Given the description of an element on the screen output the (x, y) to click on. 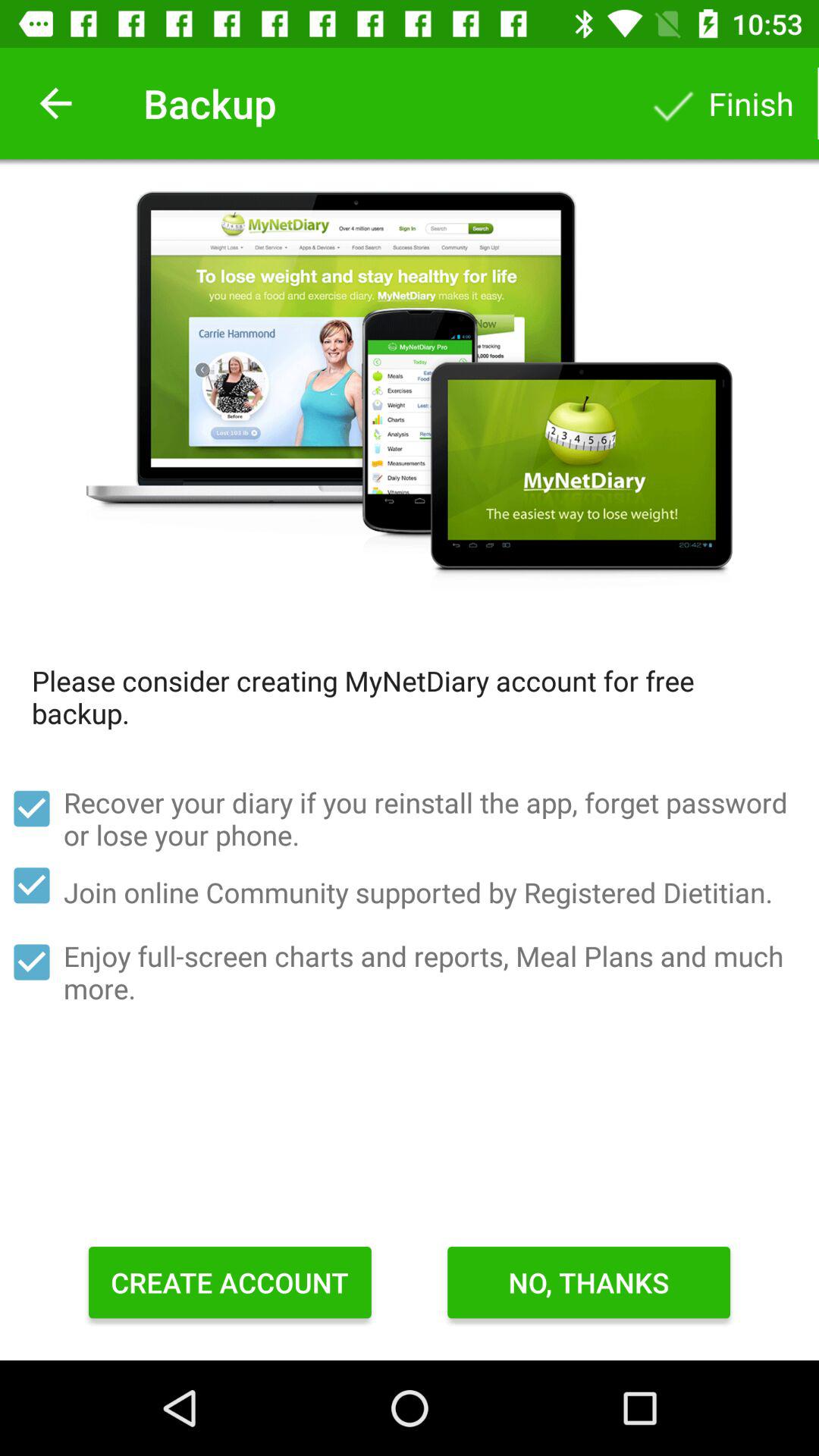
tap icon below enjoy full screen (229, 1282)
